Given the description of an element on the screen output the (x, y) to click on. 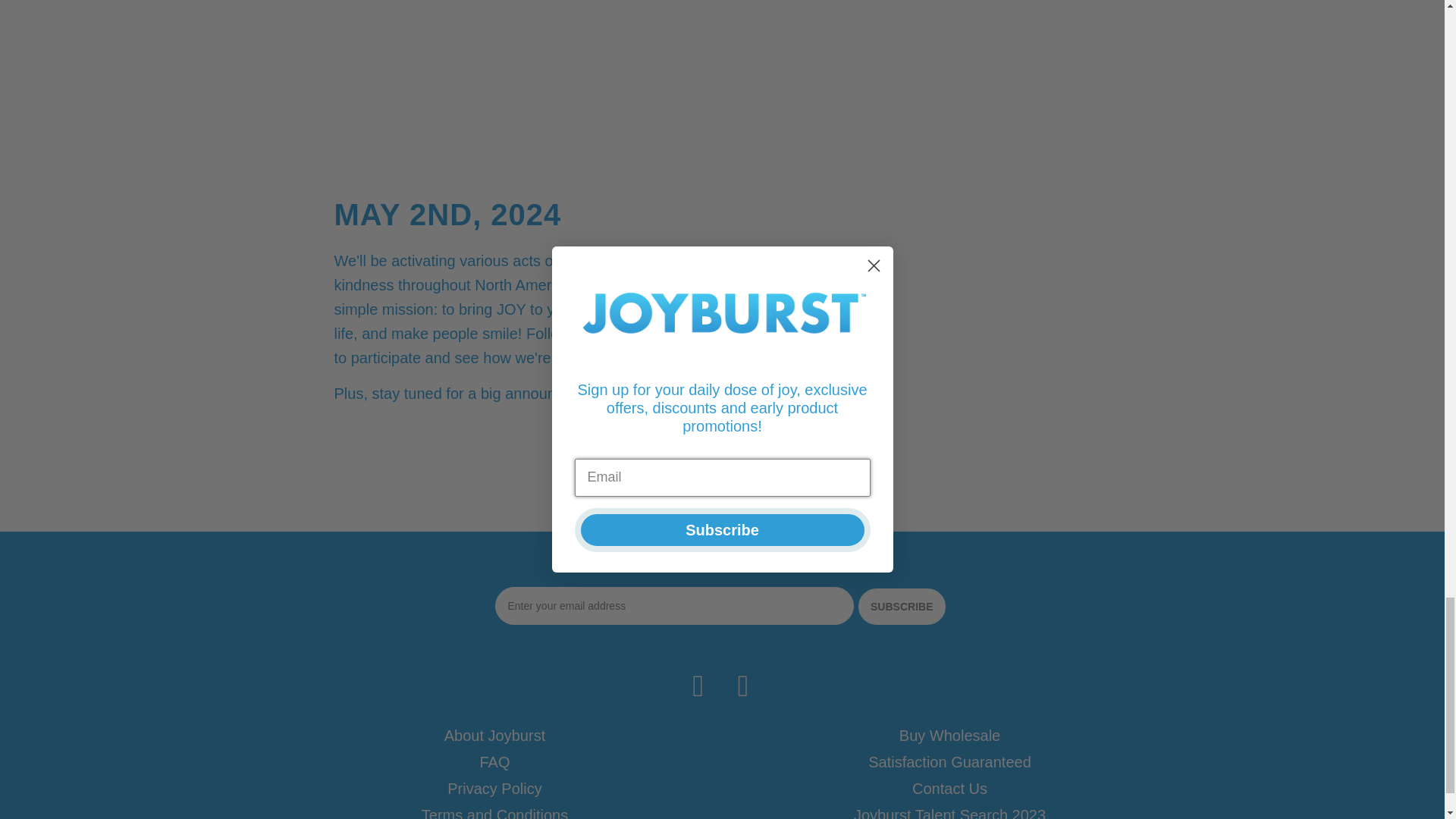
joyburst-ca on Facebook (698, 685)
bursting with compliments (494, 38)
joyburst-ca on Instagram (743, 685)
